Given the description of an element on the screen output the (x, y) to click on. 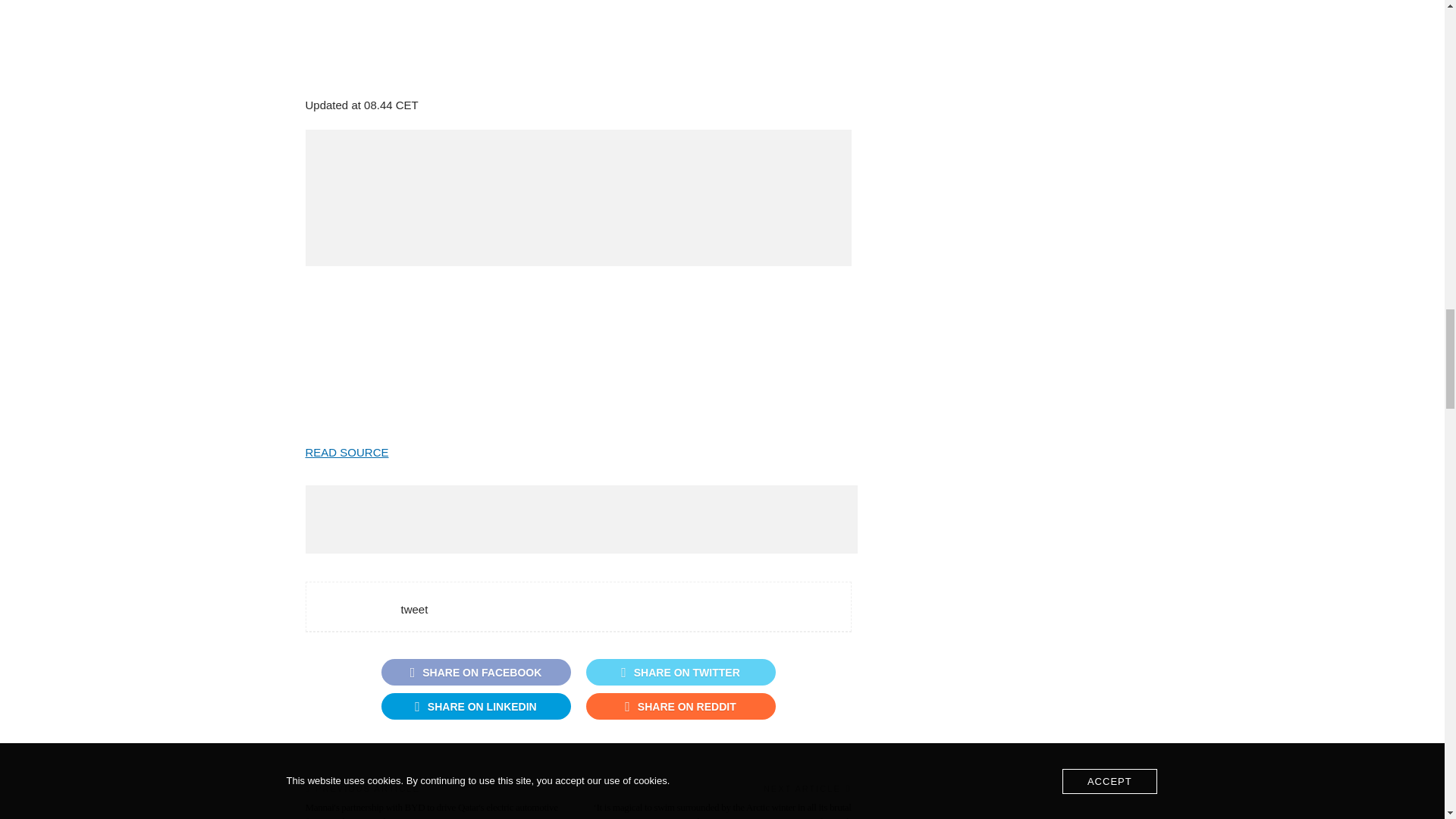
Advertisement (577, 349)
Advertisement (580, 519)
